Given the description of an element on the screen output the (x, y) to click on. 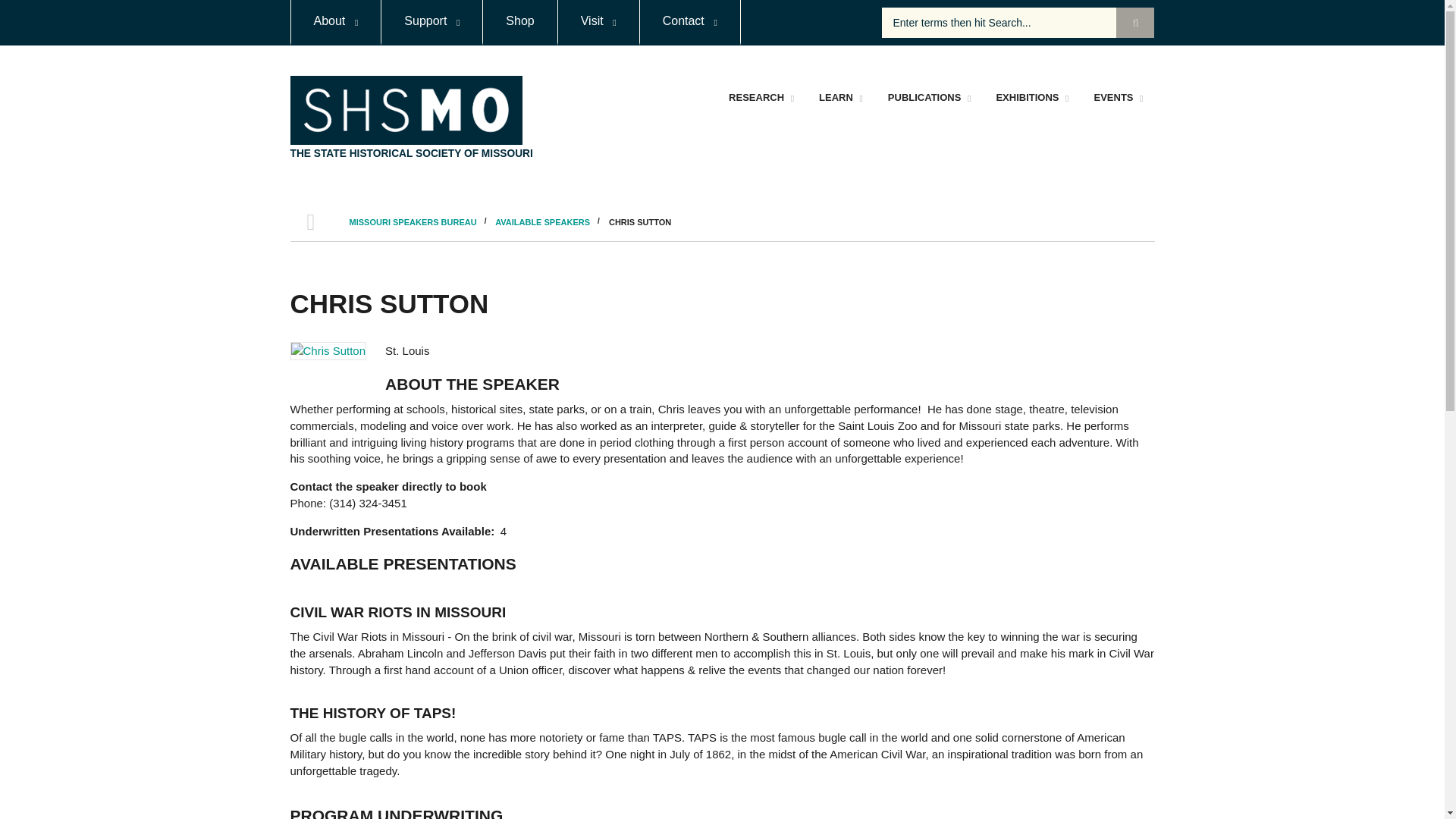
Home (405, 109)
RESEARCH (759, 97)
THE STATE HISTORICAL SOCIETY OF MISSOURI (410, 153)
Enter the terms you wish to search for. (1017, 22)
Home (410, 153)
Support (430, 22)
Visit SHSMO (598, 22)
Contact (690, 22)
Visit (598, 22)
